Given the description of an element on the screen output the (x, y) to click on. 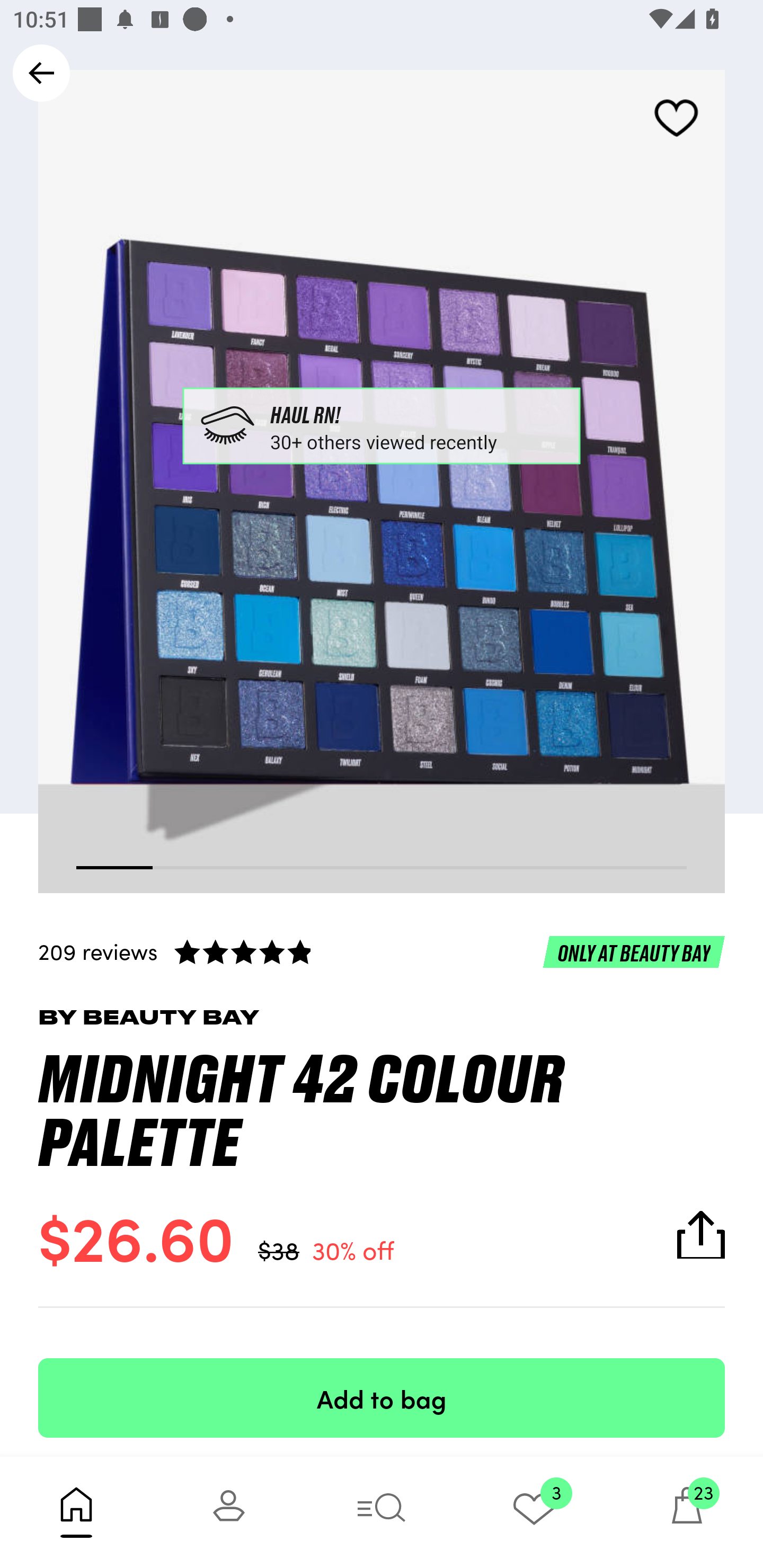
209 reviews (381, 950)
Add to bag (381, 1397)
3 (533, 1512)
23 (686, 1512)
